Given the description of an element on the screen output the (x, y) to click on. 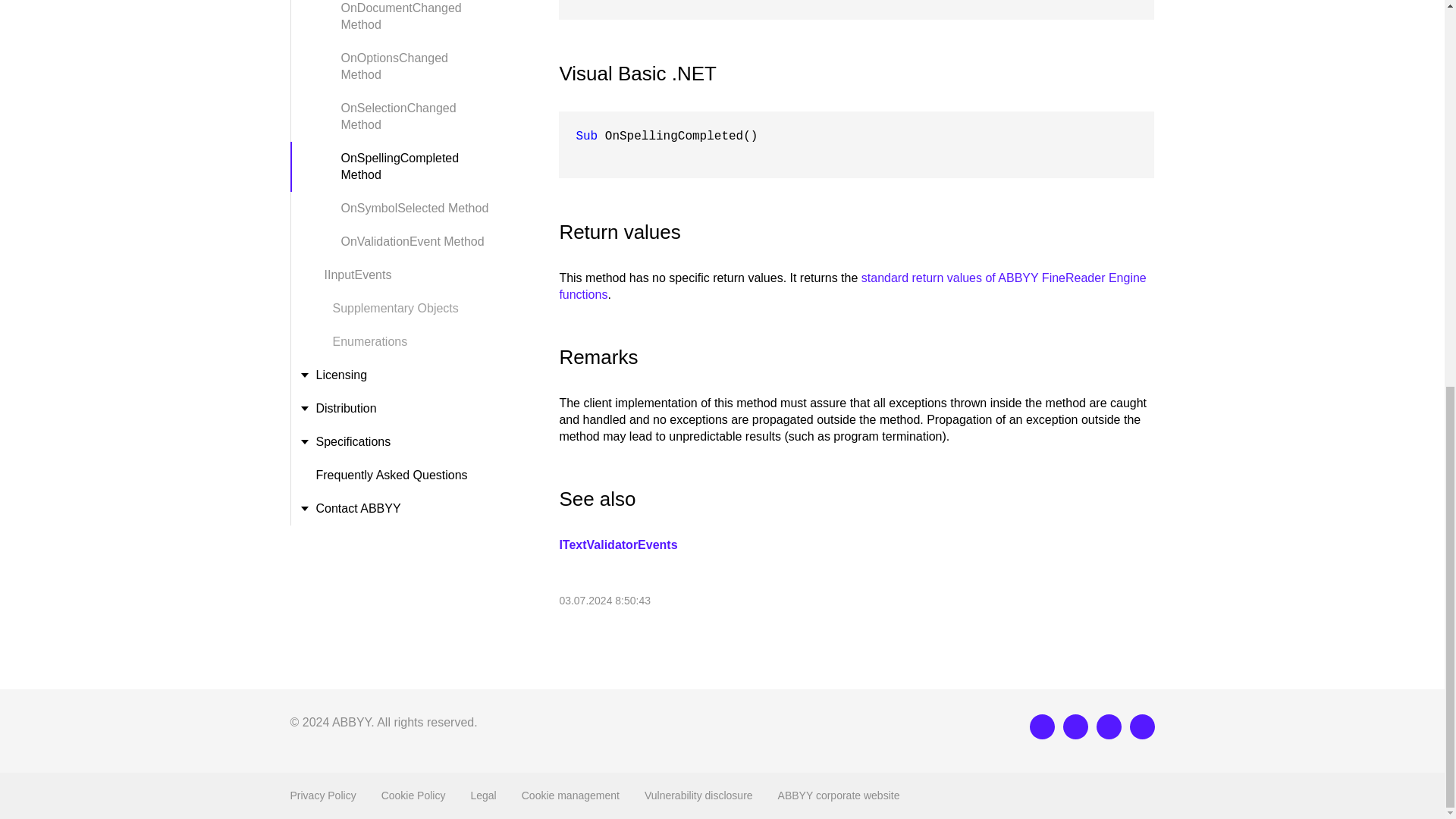
Privacy (322, 795)
Twitter (1108, 726)
Facebook (1074, 726)
Cookie management (570, 795)
Youtube (1141, 726)
LinkedIn (1041, 726)
Legal (483, 795)
